Given the description of an element on the screen output the (x, y) to click on. 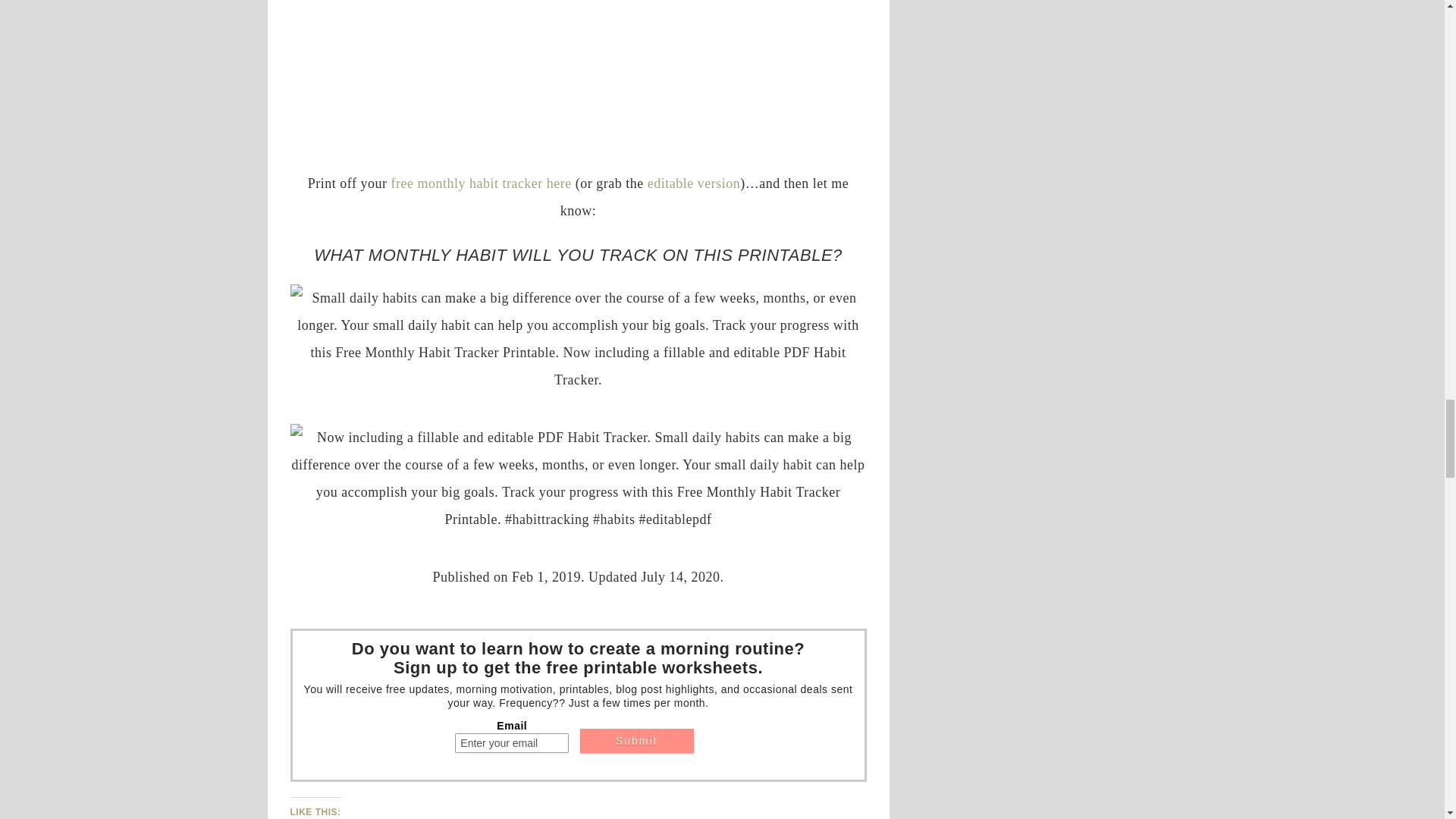
Submit (636, 740)
